Given the description of an element on the screen output the (x, y) to click on. 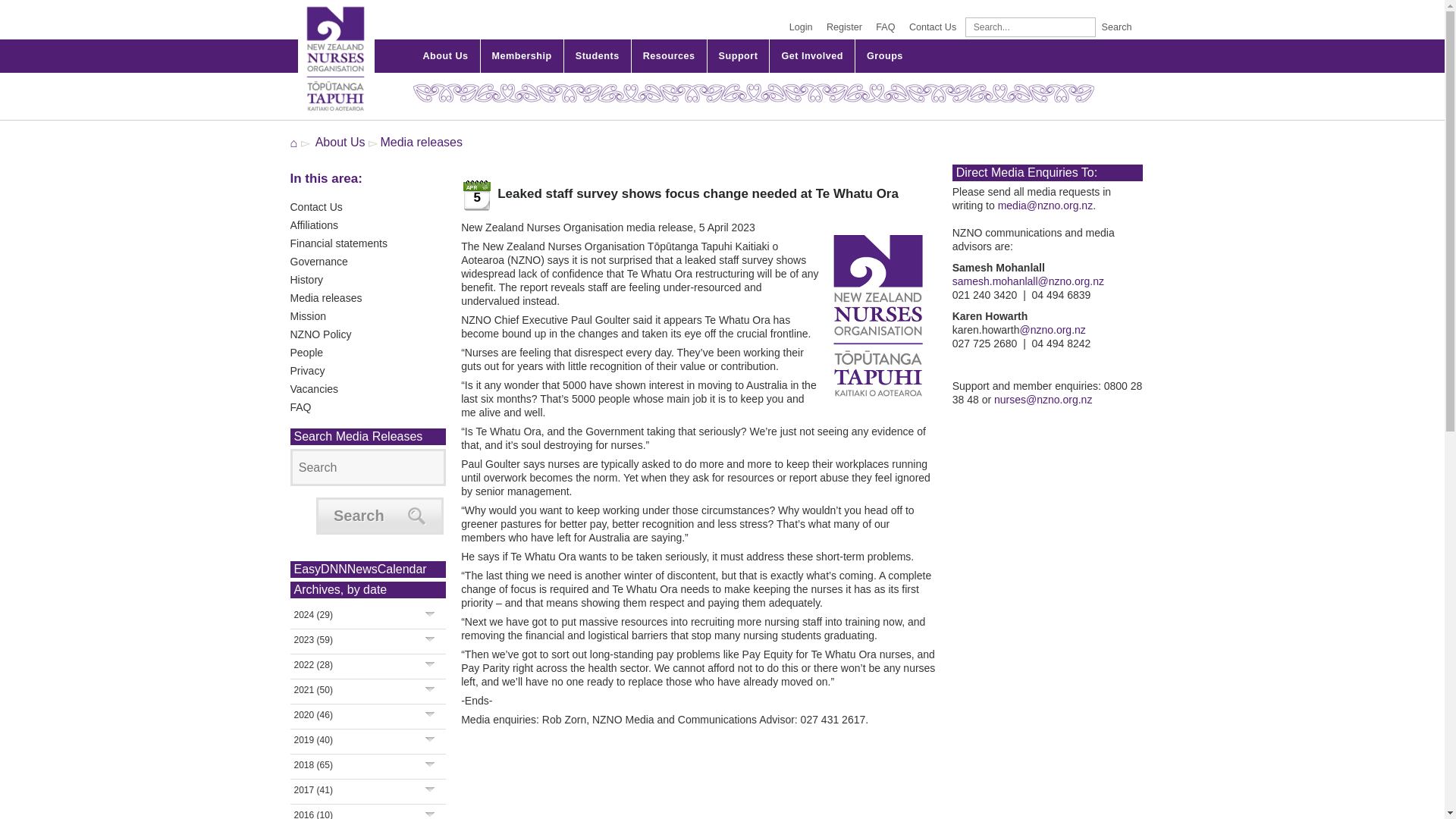
Contact Us (932, 27)
Register (844, 27)
Students (597, 55)
FAQ (884, 27)
About Us (444, 55)
2023 (313, 639)
2024 (313, 614)
Membership (521, 55)
Search (367, 467)
Search (1116, 27)
Login (801, 27)
Login (801, 27)
Clear search text (1076, 33)
Resources (668, 55)
Register (844, 27)
